Given the description of an element on the screen output the (x, y) to click on. 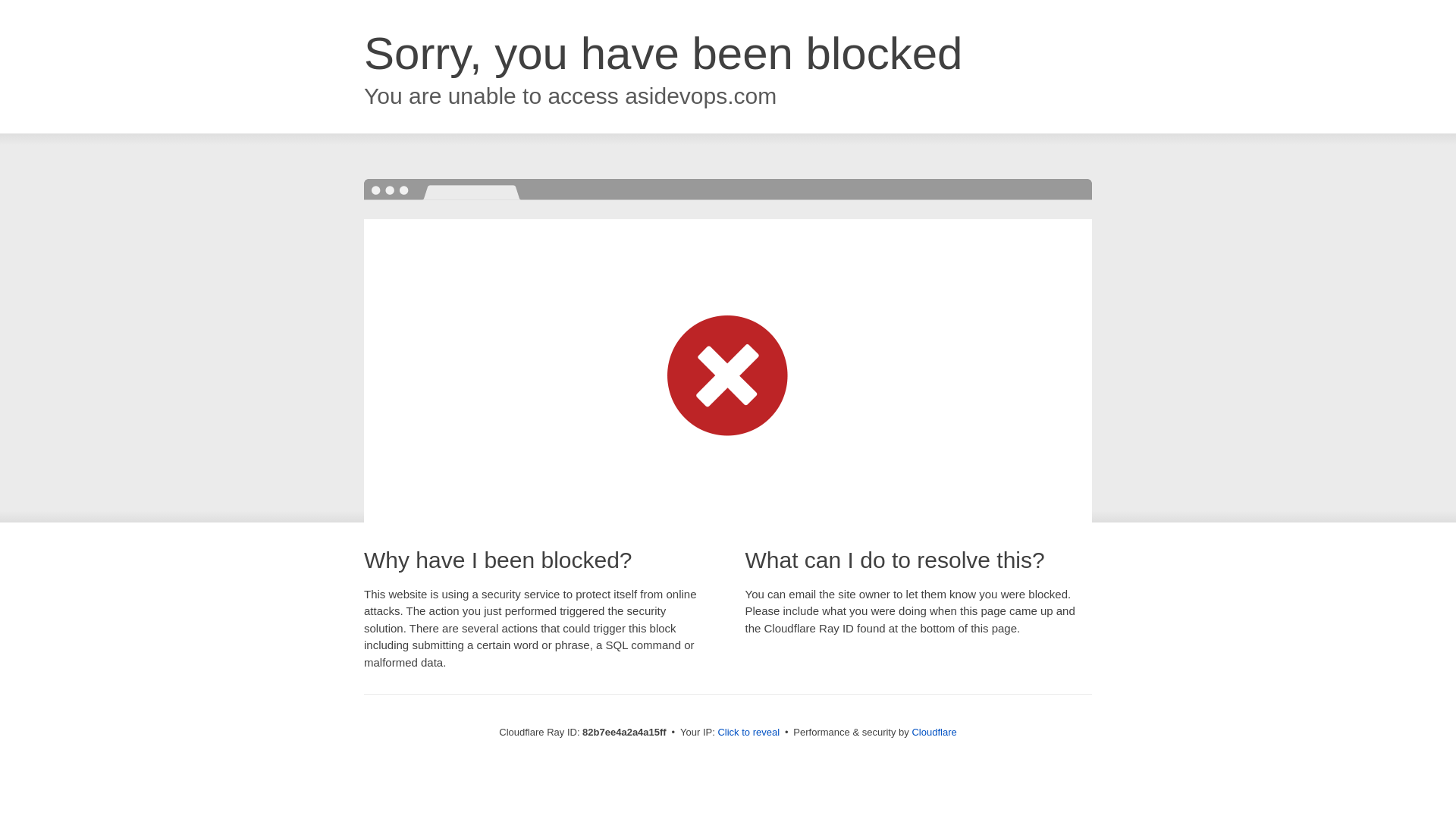
Click to reveal Element type: text (748, 732)
Cloudflare Element type: text (933, 731)
